Given the description of an element on the screen output the (x, y) to click on. 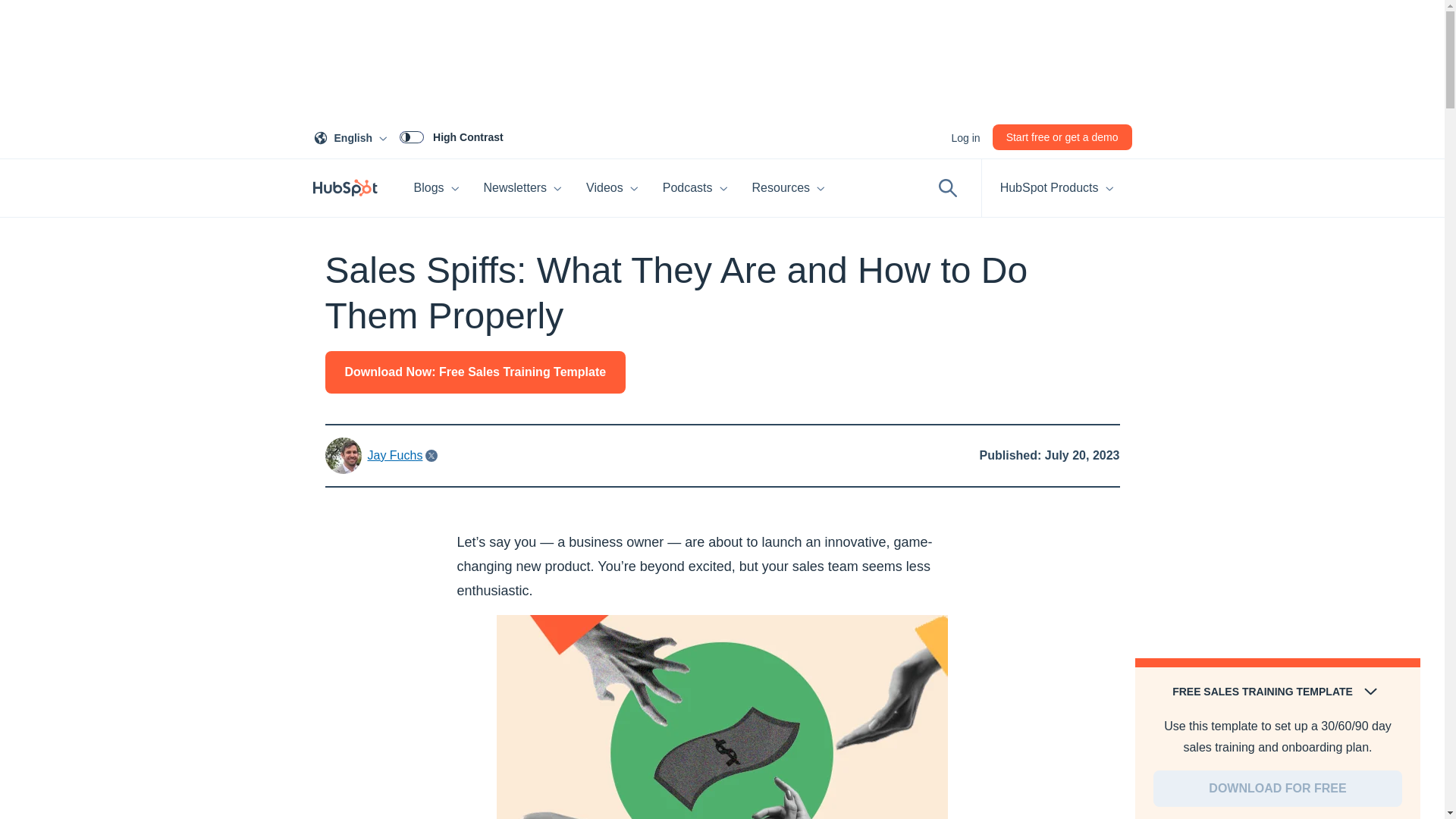
Blogs (436, 187)
Log in (964, 137)
Start free or get a demo (1062, 136)
Videos (611, 187)
Newsletters (523, 187)
High Contrast (450, 137)
